Given the description of an element on the screen output the (x, y) to click on. 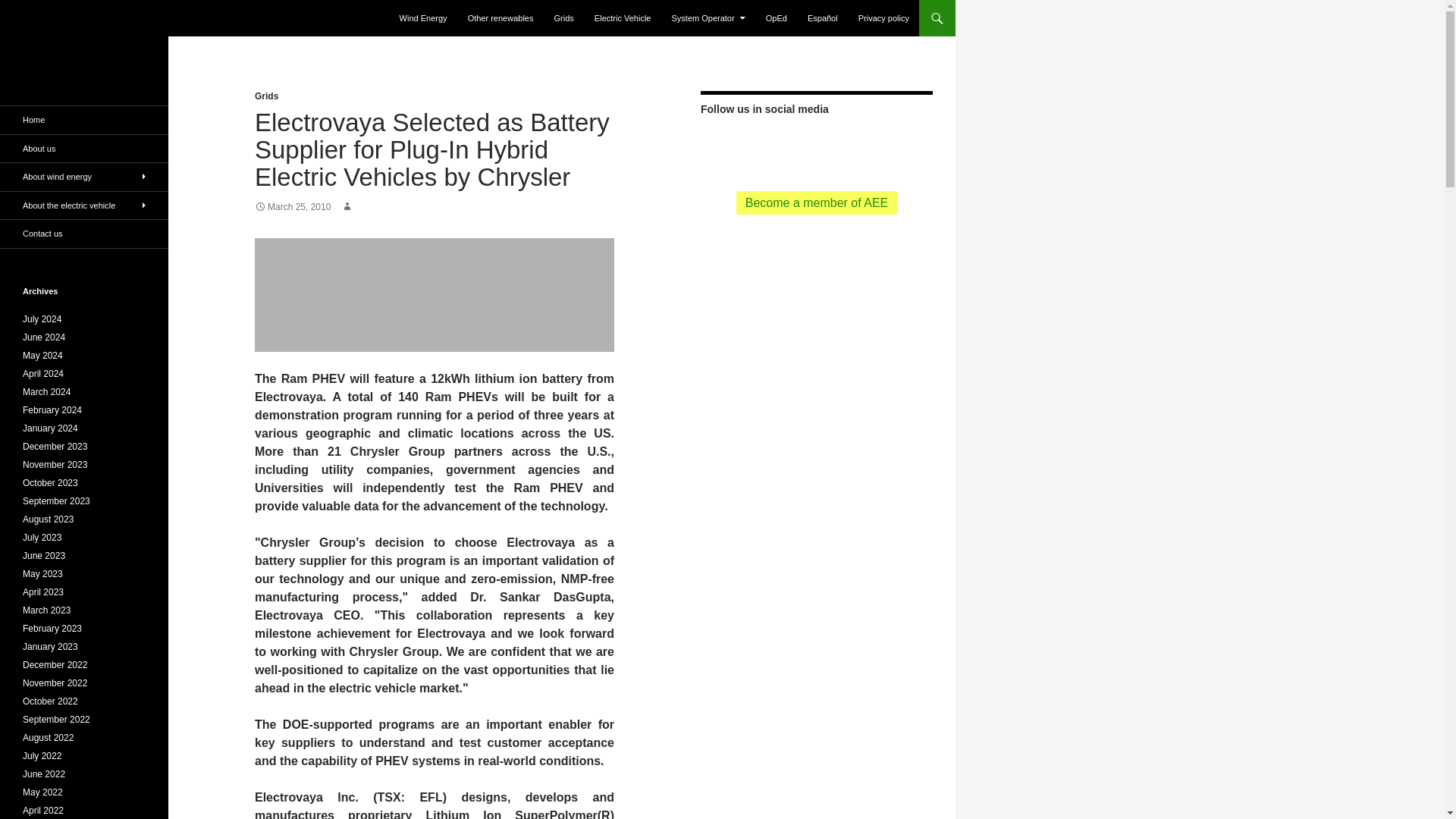
Become a member of AEE (817, 202)
flickr (871, 144)
RSS (762, 144)
flickr (871, 145)
Privacy policy (883, 18)
Other renewables (500, 18)
System Operator (708, 18)
OpEd (776, 18)
Grids (563, 18)
Electric Vehicle (623, 18)
facebook (816, 144)
facebook (816, 145)
RSS (761, 145)
Grids (266, 95)
youtube (843, 144)
